Given the description of an element on the screen output the (x, y) to click on. 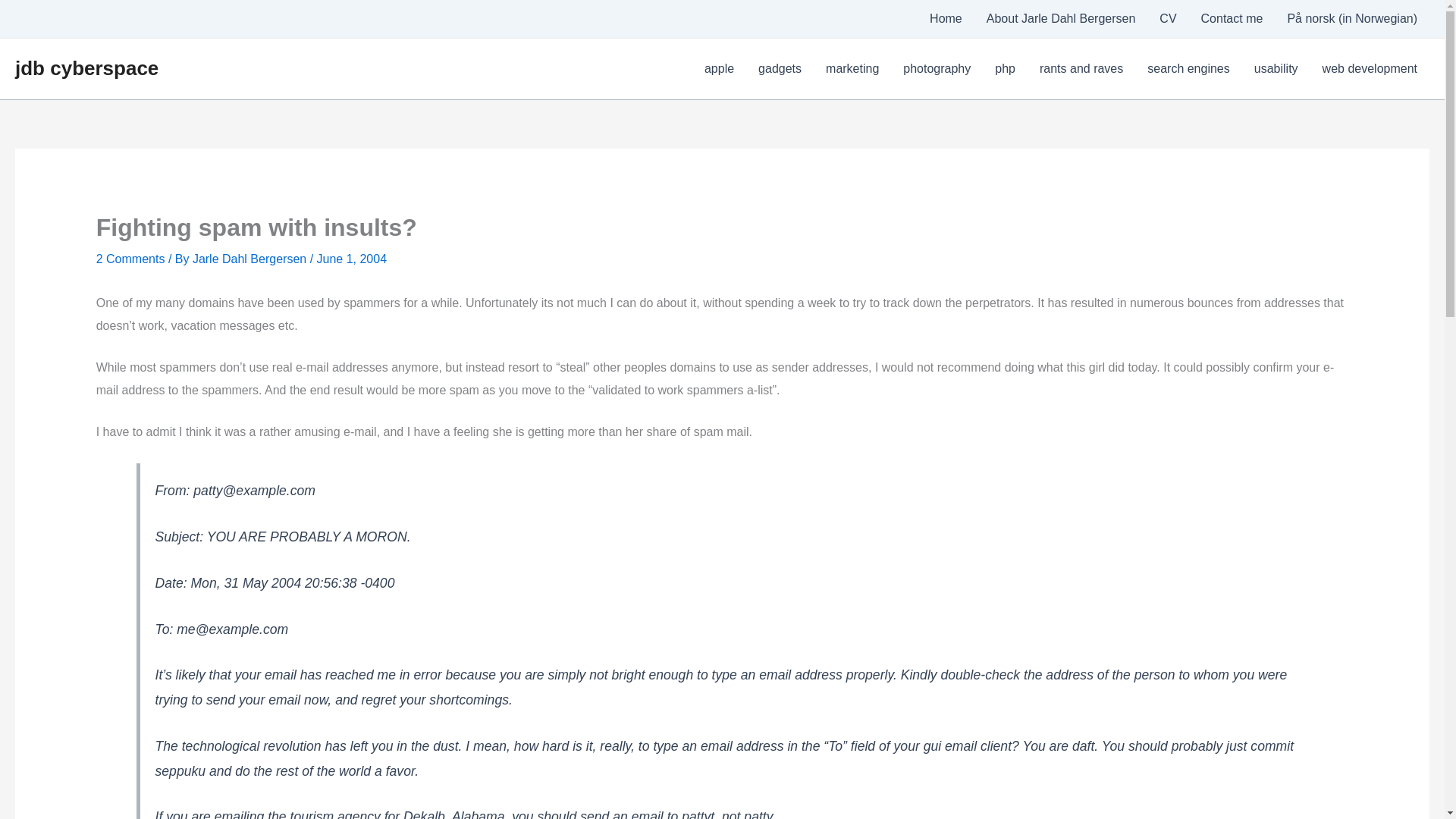
apple (719, 68)
photography (936, 68)
gadgets (779, 68)
php (1004, 68)
marketing (852, 68)
web development (1369, 68)
search engines (1188, 68)
Jarle Dahl Bergersen (251, 258)
CV (1167, 18)
Contact me (1232, 18)
About Jarle Dahl Bergersen (1061, 18)
View all posts by Jarle Dahl Bergersen (251, 258)
2 Comments (130, 258)
usability (1275, 68)
rants and raves (1081, 68)
